Given the description of an element on the screen output the (x, y) to click on. 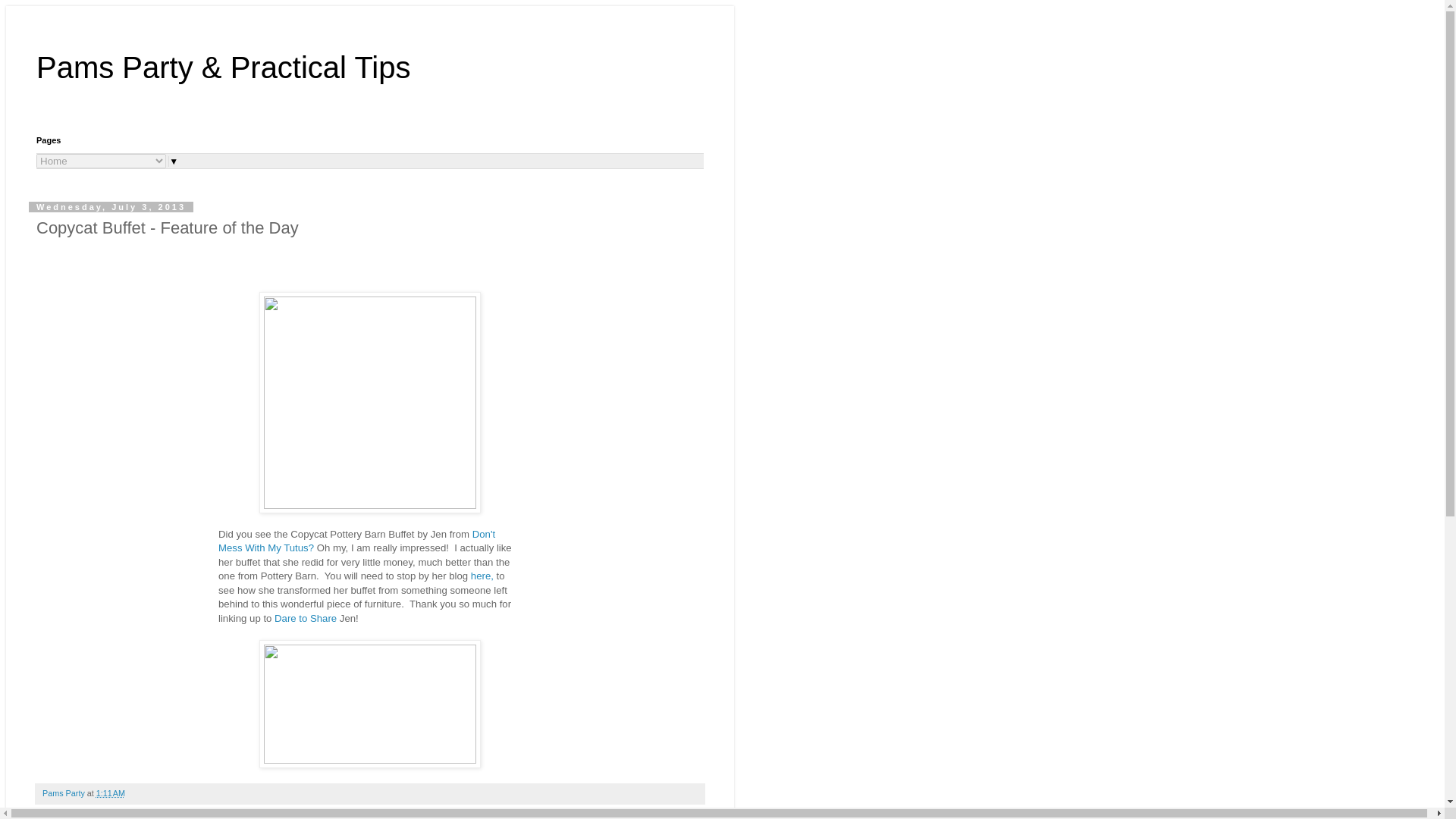
permanent link (110, 792)
Dare to Share (305, 618)
here, (481, 575)
author profile (64, 792)
Don't Mess With My Tutus? (356, 540)
Pams Party (64, 792)
